Given the description of an element on the screen output the (x, y) to click on. 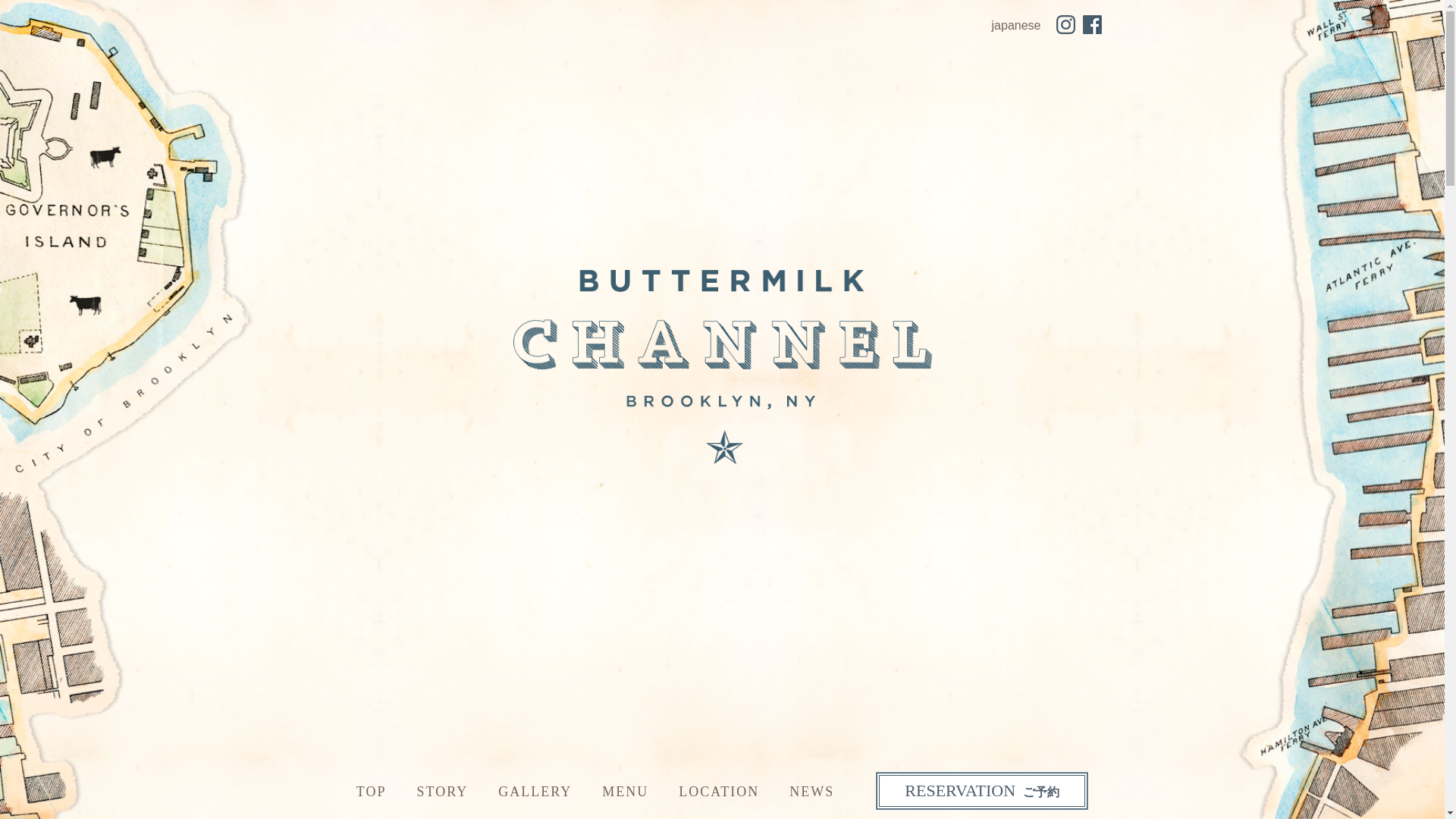
STORY (441, 791)
GALLERY (534, 791)
TOP (371, 791)
LOCATION (718, 791)
japanese (1016, 24)
NEWS (811, 791)
MENU (624, 791)
